Given the description of an element on the screen output the (x, y) to click on. 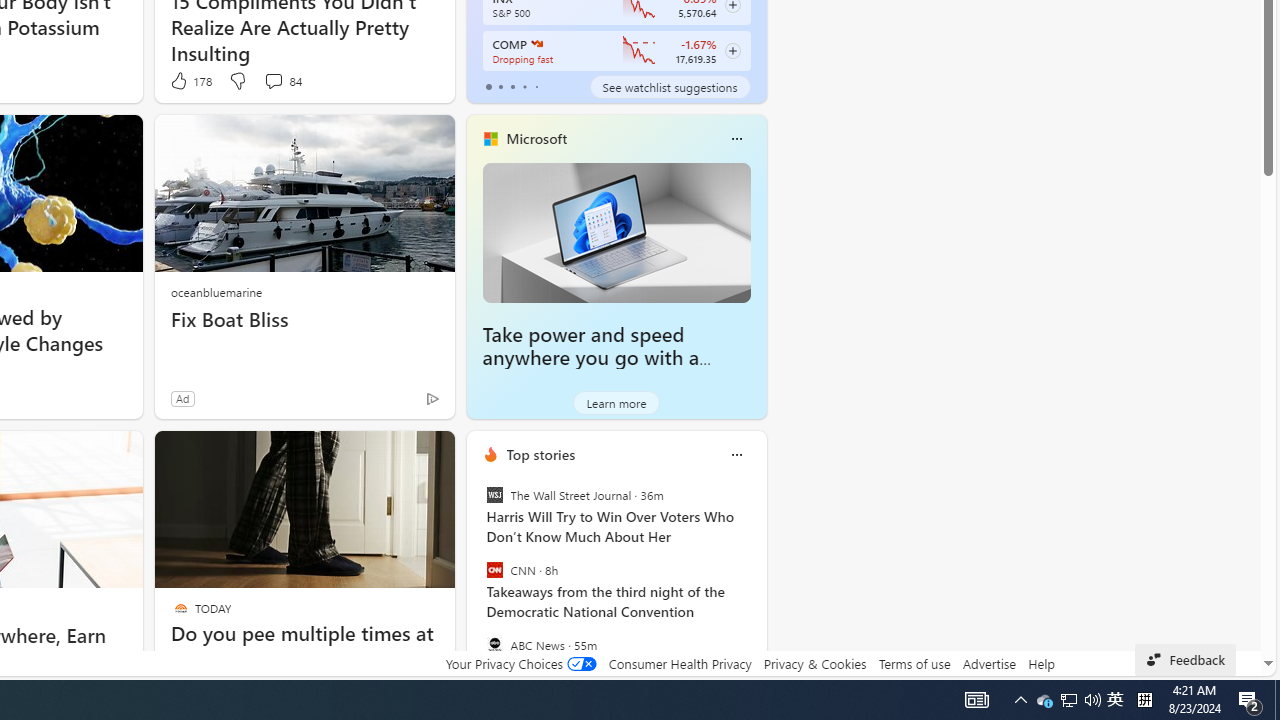
oceanbluemarine (216, 291)
178 Like (190, 80)
ABC News (494, 644)
Take power and speed anywhere you go with a Windows laptop. (616, 232)
The Wall Street Journal (494, 494)
tab-1 (500, 86)
previous (476, 583)
Your Privacy Choices (520, 663)
tab-0 (488, 86)
Privacy & Cookies (814, 663)
Top stories (540, 454)
